Given the description of an element on the screen output the (x, y) to click on. 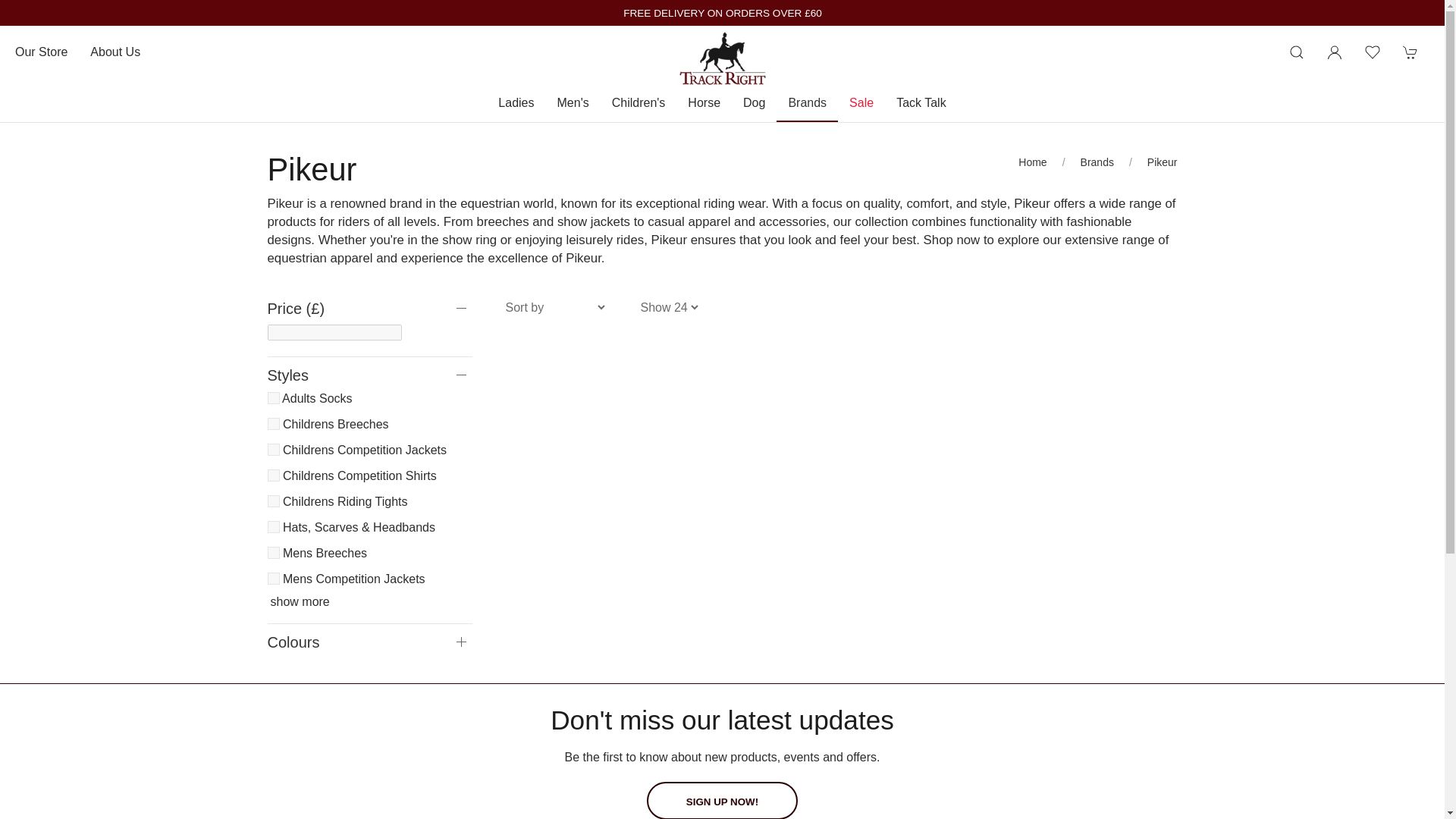
Adults Socks (272, 398)
Childrens Competition Jackets (272, 449)
Childrens Riding Tights (272, 500)
Childrens Competition Shirts (272, 475)
Add to wishlist (1372, 51)
Mens Competition Jackets (272, 578)
Visit TracK Right Equestrian (41, 51)
About TracK Right Equestrian (114, 51)
Mens Breeches (272, 552)
Ladies (515, 102)
